Given the description of an element on the screen output the (x, y) to click on. 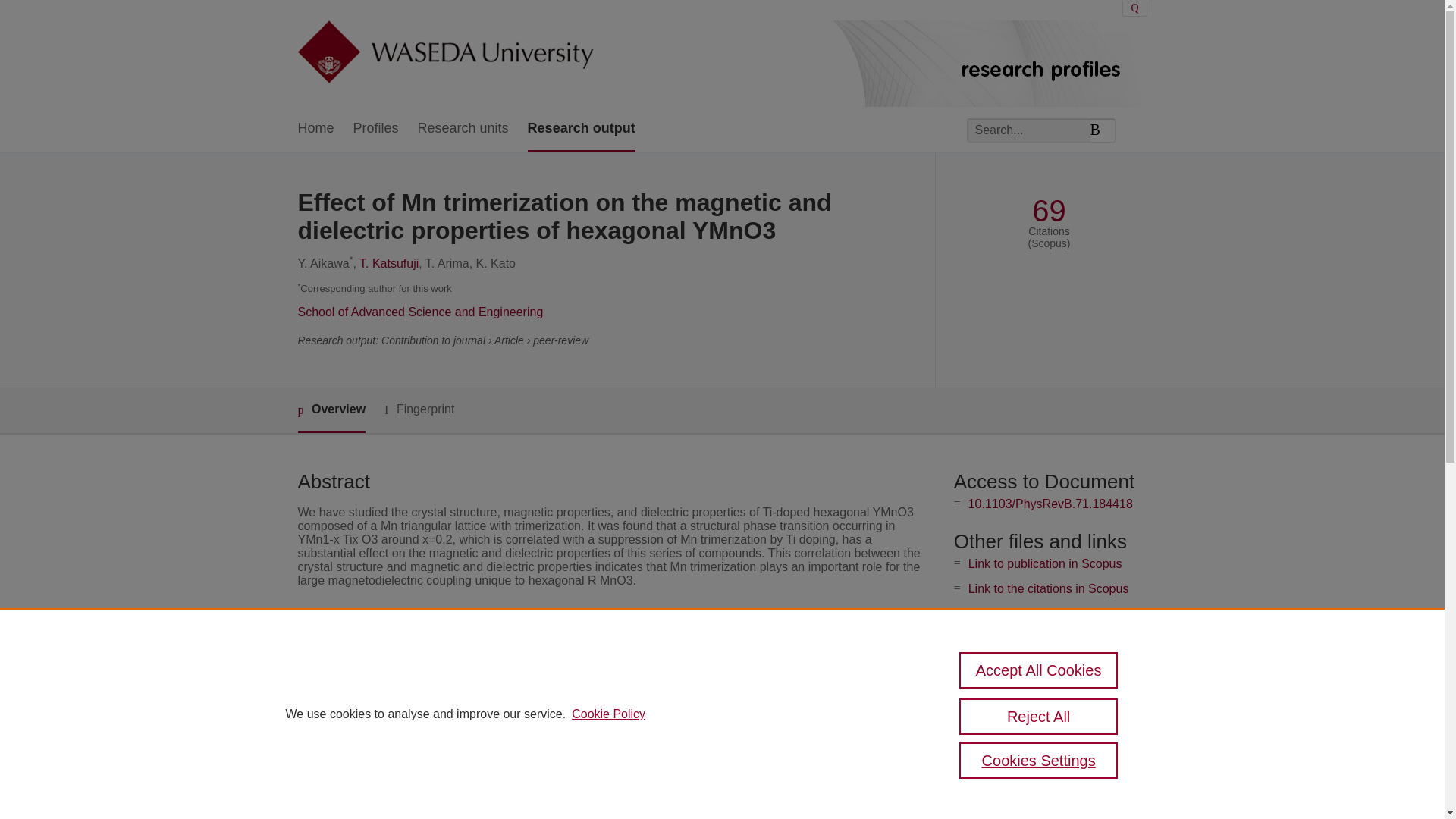
Link to publication in Scopus (1045, 563)
Profiles (375, 129)
Overview (331, 410)
Waseda University Home (444, 53)
69 (1048, 211)
Link to the citations in Scopus (1048, 588)
School of Advanced Science and Engineering (420, 311)
Research units (462, 129)
Fingerprint (419, 409)
